Given the description of an element on the screen output the (x, y) to click on. 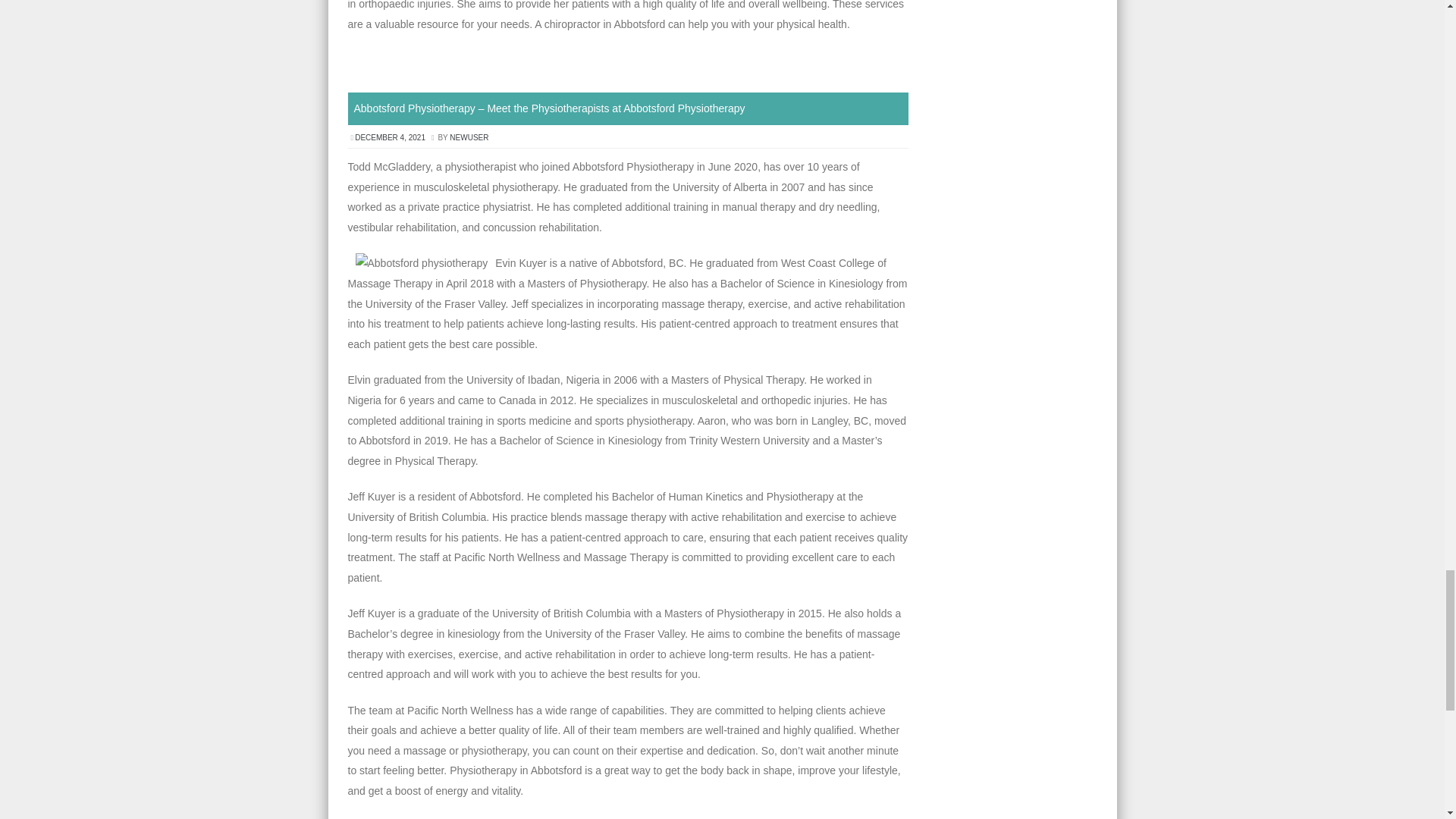
7:57 pm (390, 137)
NEWUSER (468, 137)
DECEMBER 4, 2021 (390, 137)
